Given the description of an element on the screen output the (x, y) to click on. 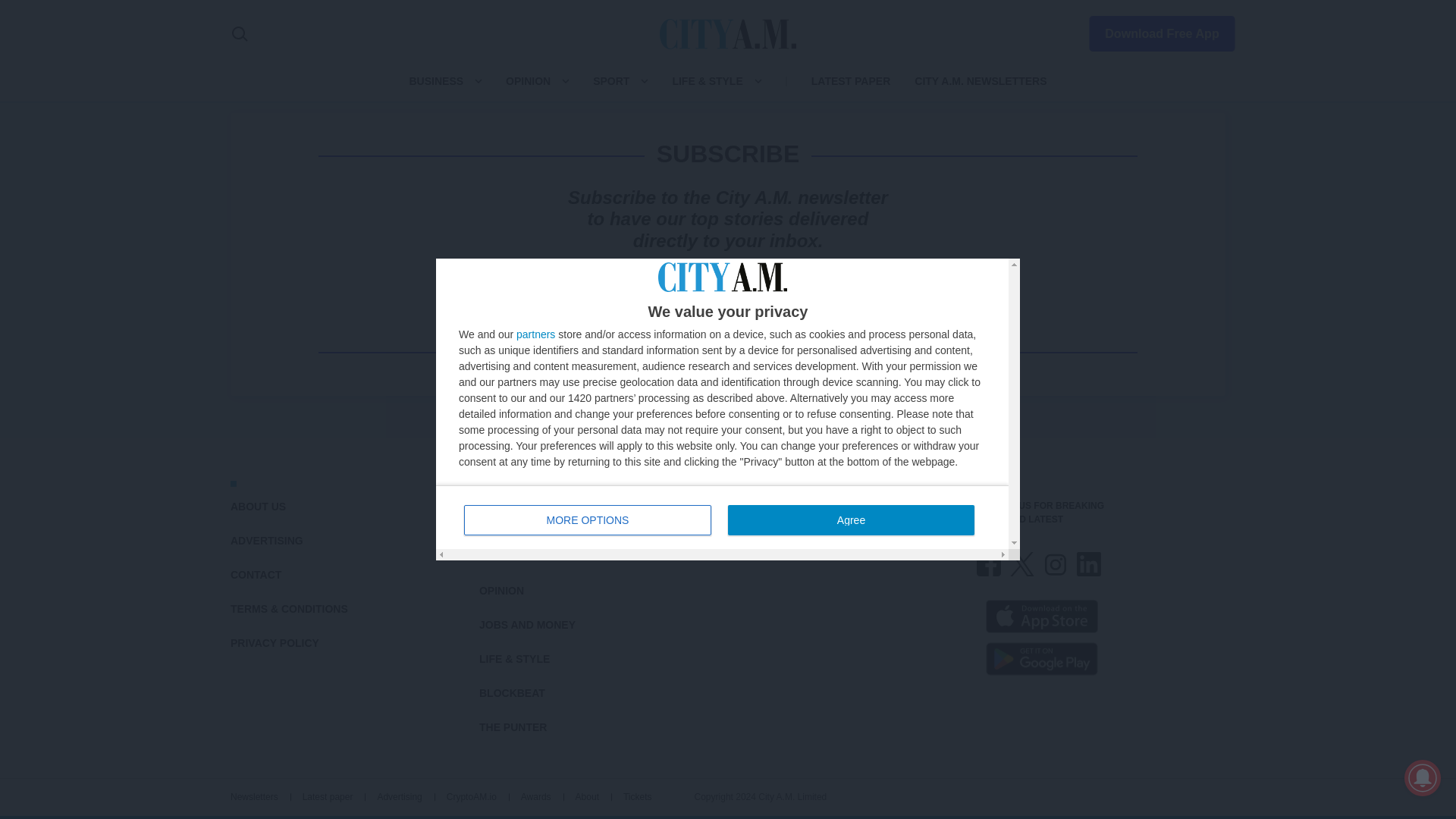
FACEBOOK (988, 564)
INSTAGRAM (1055, 564)
X (1021, 564)
LINKEDIN (1088, 564)
